Given the description of an element on the screen output the (x, y) to click on. 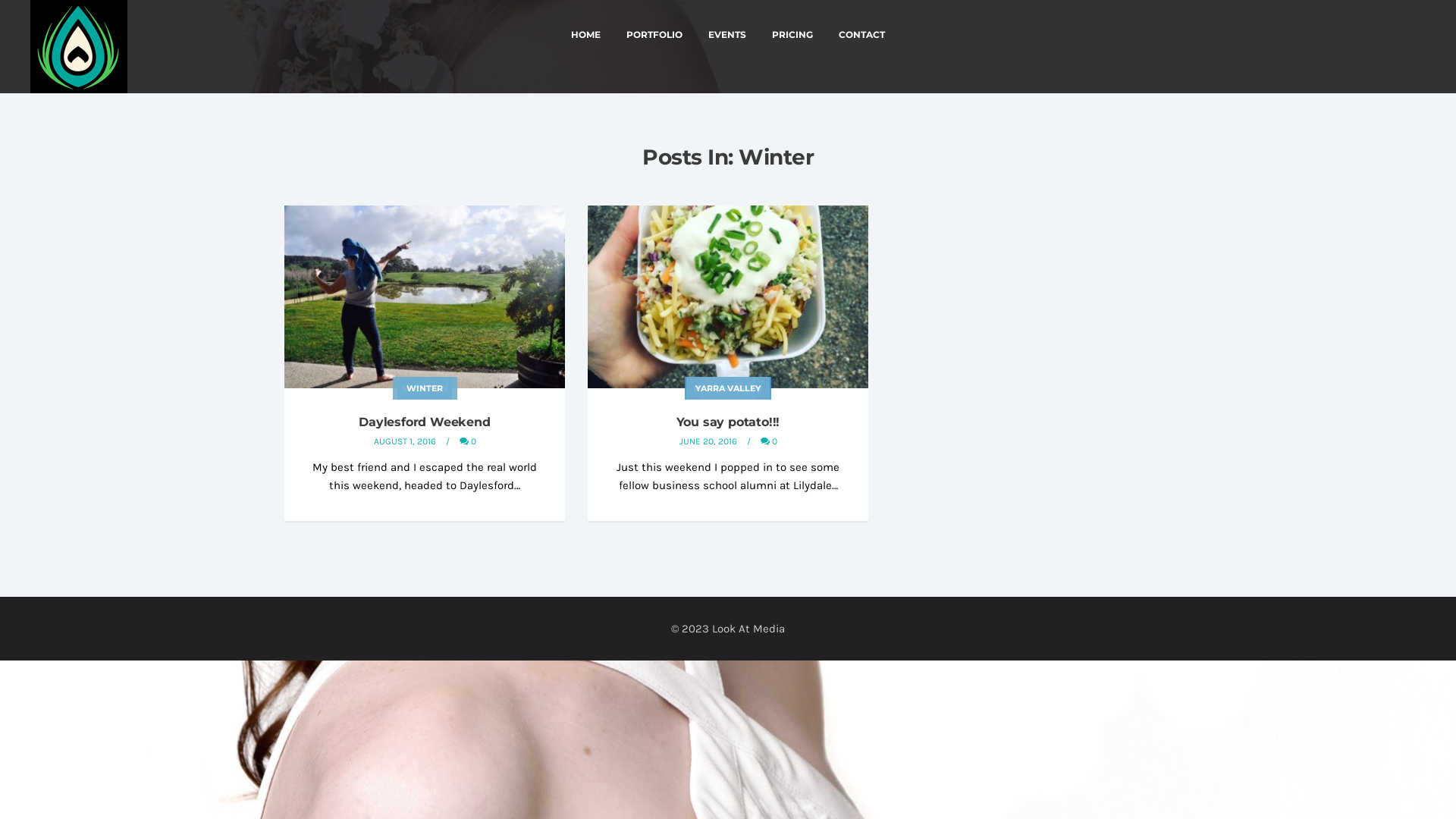
CONTACT Element type: text (861, 34)
FOOD Element type: text (424, 387)
EVENTS Element type: text (727, 34)
WINTER Element type: text (424, 387)
HOME Element type: text (585, 34)
Daylesford Weekend Element type: text (423, 421)
PHOTOGRAPHY Element type: text (727, 387)
WINTER Element type: text (727, 387)
PRICING Element type: text (791, 34)
0 Element type: text (467, 440)
VACATION Element type: text (424, 387)
FOOD Element type: text (727, 387)
You say potato!!! Element type: text (728, 421)
PORTFOLIO Element type: text (654, 34)
YARRA VALLEY Element type: text (727, 387)
0 Element type: text (767, 440)
